Given the description of an element on the screen output the (x, y) to click on. 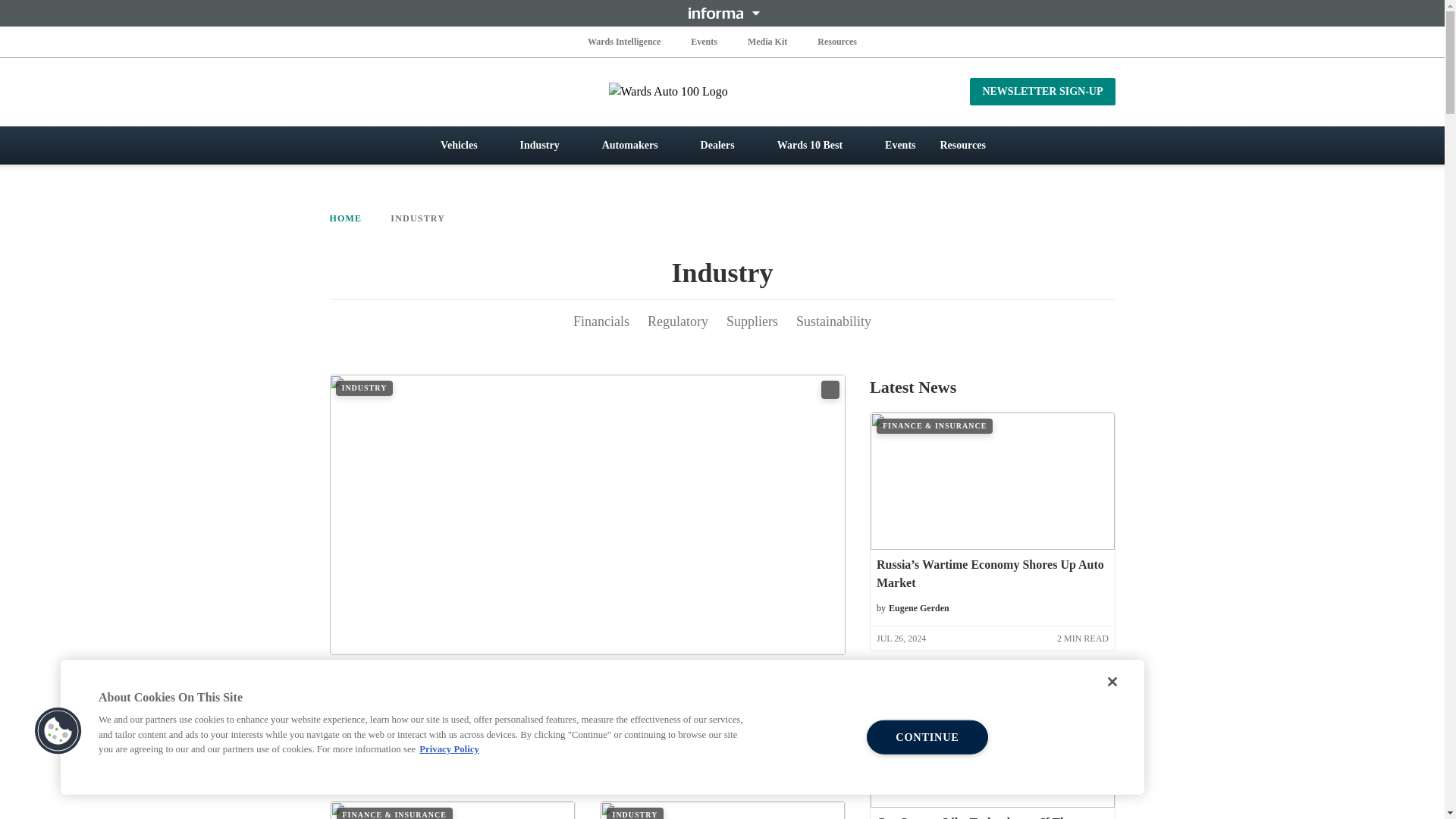
Events (703, 41)
Cookies Button (57, 730)
Media Kit (767, 41)
Wards Intelligence (624, 41)
NEWSLETTER SIGN-UP (1042, 90)
Wards Auto 100 Logo (721, 91)
Link to all video (829, 389)
Resources (836, 41)
